Given the description of an element on the screen output the (x, y) to click on. 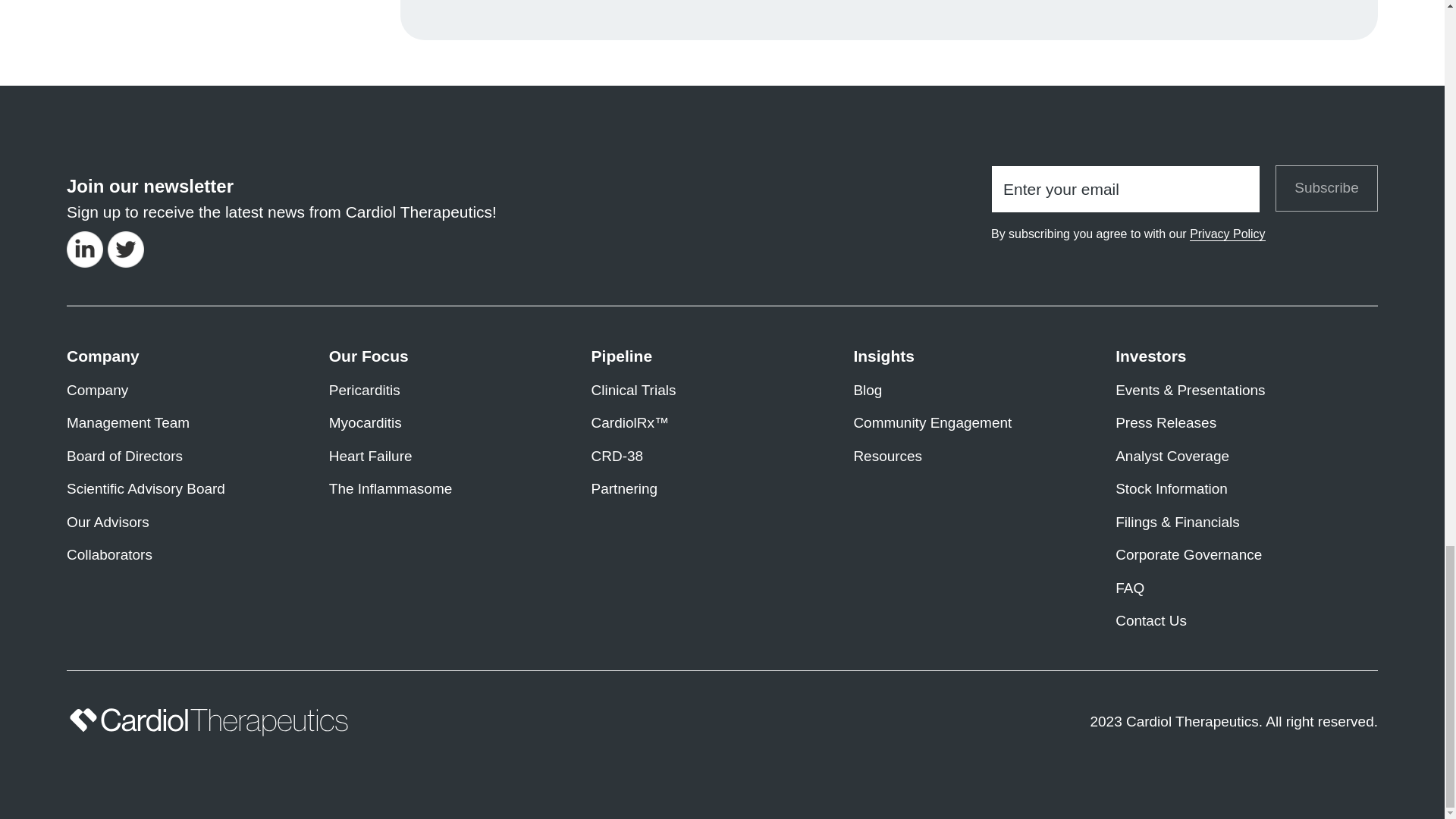
Subscribe (1326, 188)
Cardiol Therapeutics (208, 722)
Privacy Policy (1227, 233)
Subscribe (1326, 188)
